Given the description of an element on the screen output the (x, y) to click on. 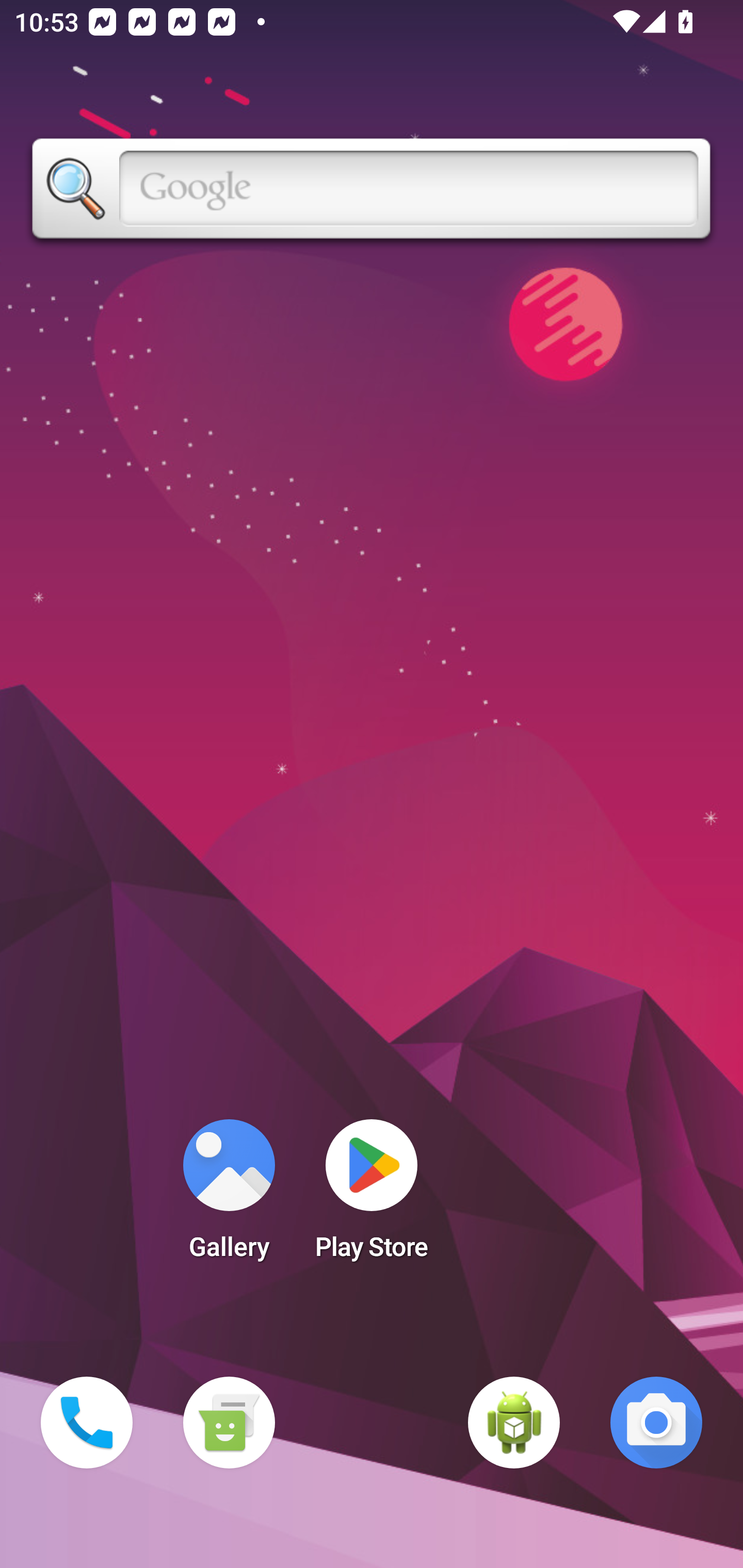
Gallery (228, 1195)
Play Store (371, 1195)
Phone (86, 1422)
Messaging (228, 1422)
WebView Browser Tester (513, 1422)
Camera (656, 1422)
